Given the description of an element on the screen output the (x, y) to click on. 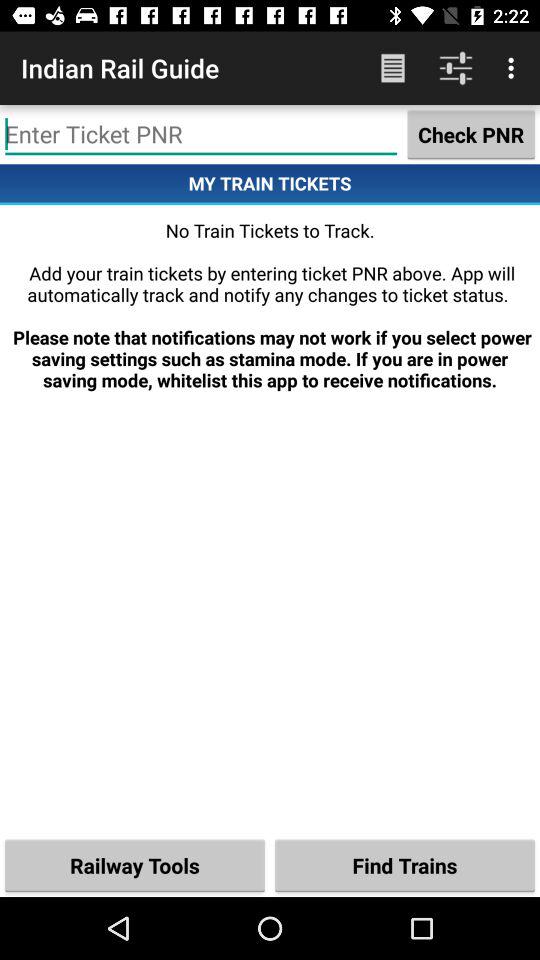
turn off item above my train tickets icon (201, 134)
